Given the description of an element on the screen output the (x, y) to click on. 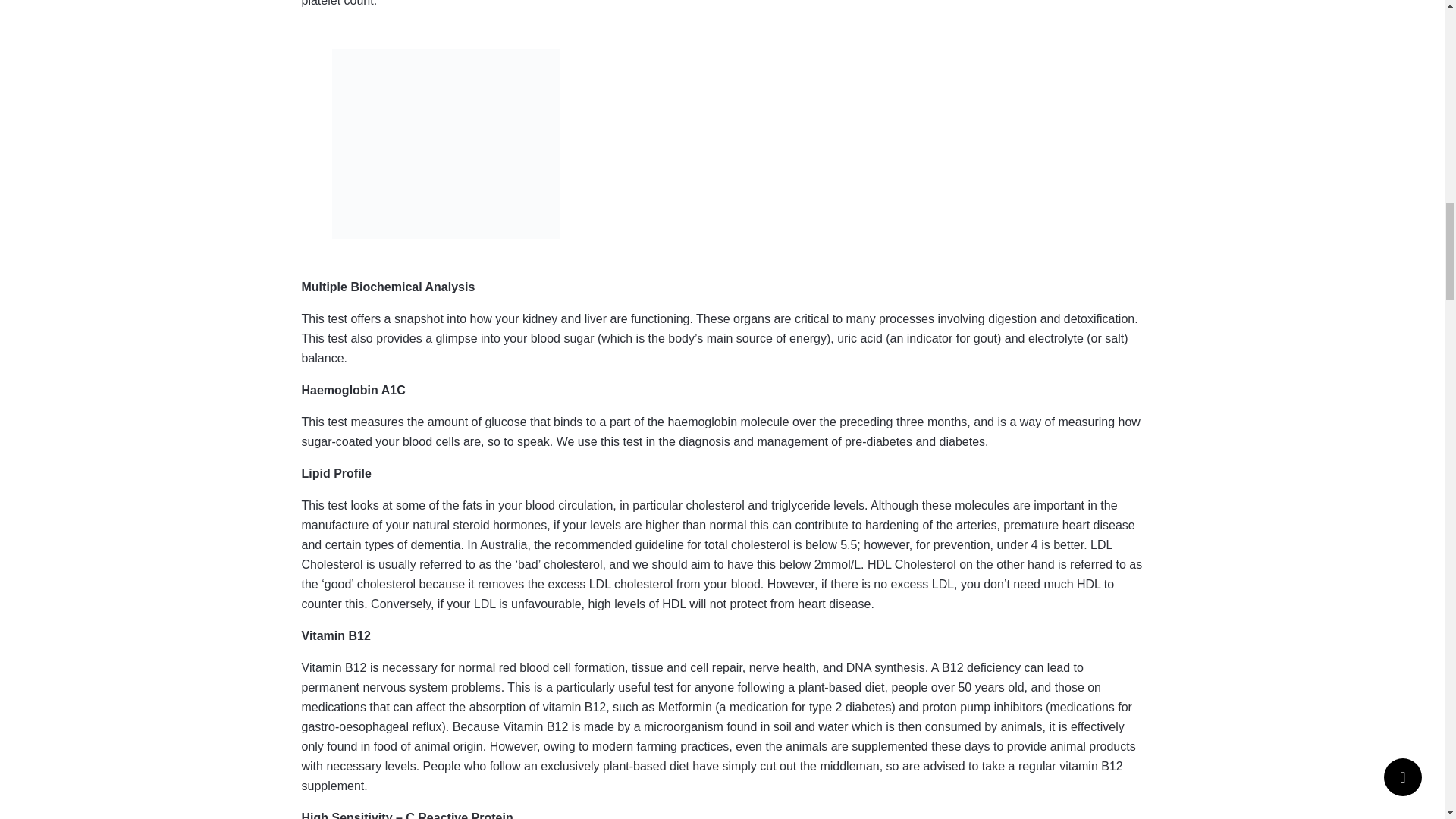
Blood tests (445, 144)
